Given the description of an element on the screen output the (x, y) to click on. 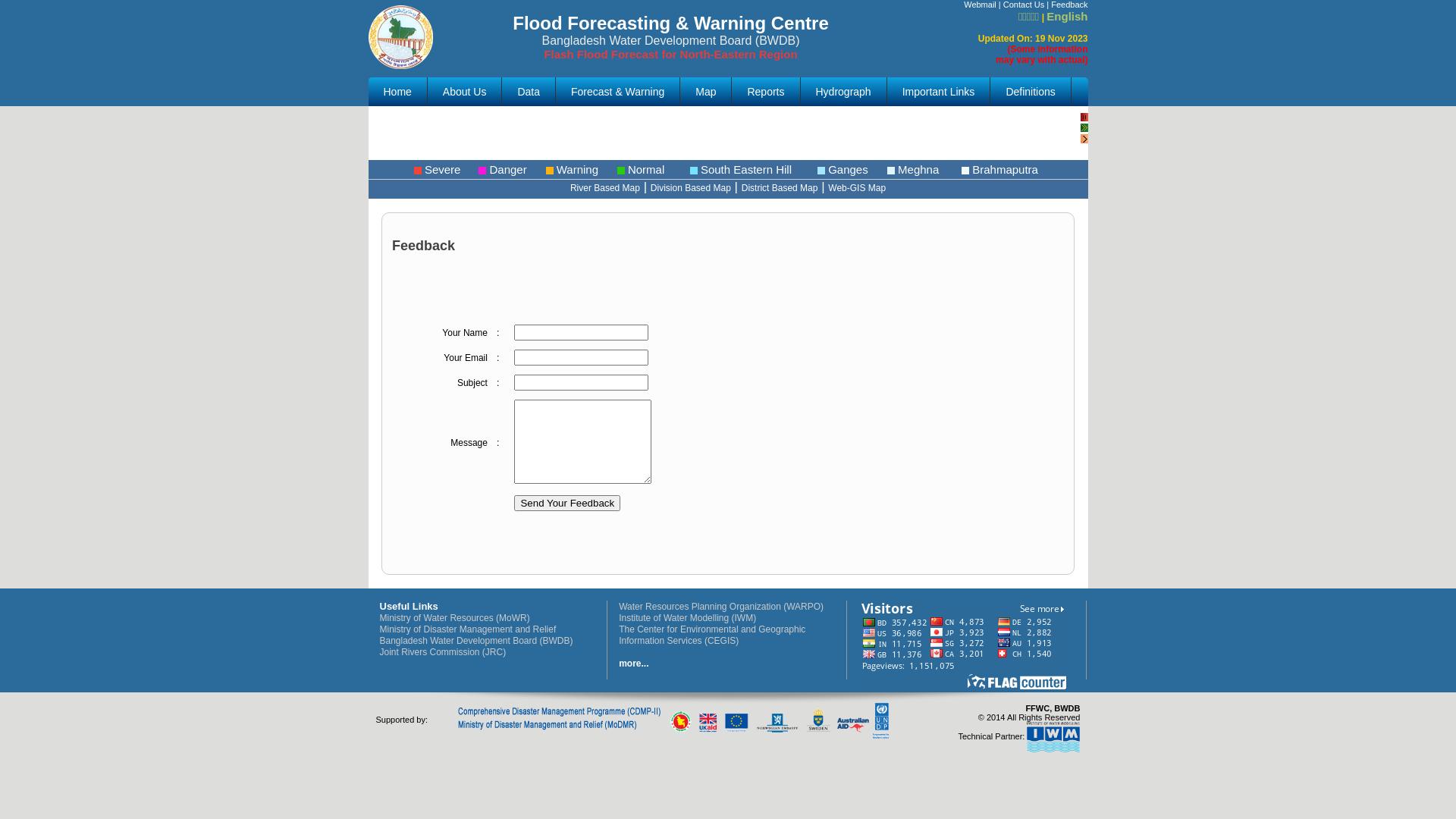
Ballah
Water Level : 19.79
Danger Level : 21.20 Element type: text (198, 202)
Web-GIS Map Element type: text (856, 187)
Map Element type: text (705, 91)
Amalshid
Water Level : 7.86
Danger Level : 15.40 Element type: text (626, 129)
Panchagarh
Water Level : 64.90
Danger Level : 70.30 Element type: text (332, 325)
Institute of Water Modelling (IWM) Element type: text (687, 617)
Kanaighat
Water Level : 4.31
Danger Level : 12.75 Element type: text (161, 252)
Bhusirbandar
Water Level : 34.81
Danger Level : 39.15 Element type: text (611, 252)
Kurigram
Water Level : 22.47
Danger Level : 26.05 Element type: text (295, 374)
Ministry of Disaster Management and Relief Element type: text (467, 629)
About Us Element type: text (464, 91)
Hydrograph Element type: text (843, 91)
Bangladesh Water Development Board (BWDB) Element type: text (475, 640)
Joint Rivers Commission (JRC) Element type: text (442, 651)
Send Your Feedback Element type: text (567, 503)
Important Links Element type: text (938, 91)
District Based Map Element type: text (779, 187)
Bandarban
Water Level : 6.32
Danger Level : 14.80 Element type: text (175, 129)
Serajganj
Water Level : 7.32
Danger Level : 12.90 Element type: text (318, 448)
Daulatkhan
Water Level : 0.52
Danger Level : 2.95 Element type: text (348, 202)
River Based Map Element type: text (605, 187)
Feedback Element type: text (1069, 4)
Parshuram
Water Level : 9.72
Danger Level : 12.55 Element type: text (476, 129)
Sariakandi
Water Level : 10.10
Danger Level : 16.25 Element type: text (168, 448)
C-Nawabganj
Water Level : 12.48
Danger Level : 20.55 Element type: text (730, 276)
Data Element type: text (528, 91)
Definitions Element type: text (1030, 91)
Barisal
Water Level : 0.65
Danger Level : 2.10 Element type: text (462, 252)
Division Based Map Element type: text (690, 187)
Bahadurabad
Water Level : 13.53
Danger Level : 19.05 Element type: text (632, 325)
Narayanganj
Water Level : 1.06
Danger Level : 5.05 Element type: text (596, 374)
more... Element type: text (633, 663)
Markuli
Water Level : 3.46
Danger Level : 7.05 Element type: text (311, 252)
Panchpukuria
Water Level : 2.61
Danger Level : 9.05 Element type: text (325, 129)
Sureshswar
Water Level : 0.85
Danger Level : 4.00 Element type: text (482, 325)
Singra
Water Level : 9.06
Danger Level : 12.20 Element type: text (468, 448)
Faridpur
Water Level : 1.59
Danger Level : 7.05 Element type: text (182, 325)
English Element type: text (1066, 15)
B. Baria
Water Level : 1.61
Danger Level : 5.05 Element type: text (745, 153)
Ministry of Water Resources (MoWR) Element type: text (454, 617)
Kaunia
Water Level : 27.18
Danger Level : 28.75 Element type: text (145, 374)
Nayarhat
Water Level : 1.35
Danger Level : 6.85 Element type: text (716, 399)
Forecast & Warning Element type: text (617, 91)
Flash Flood Forecast for North-Eastern Region Element type: text (670, 53)
Contact Us Element type: text (1023, 4)
Derai
Water Level : 2.93
Danger Level : 6.55 Element type: text (498, 202)
Reports Element type: text (765, 91)
Home Element type: text (397, 91)
Mymensingh
Water Level : 2.98
Danger Level : 12.05 Element type: text (445, 374)
Webmail Element type: text (979, 4)
Habiganj
Water Level : 6.20
Danger Level : 9.05 Element type: text (648, 202)
Taraghat
Water Level : 1.40
Danger Level : 7.95 Element type: text (618, 448)
Water Resources Planning Organization (WARPO) Element type: text (720, 606)
